Given the description of an element on the screen output the (x, y) to click on. 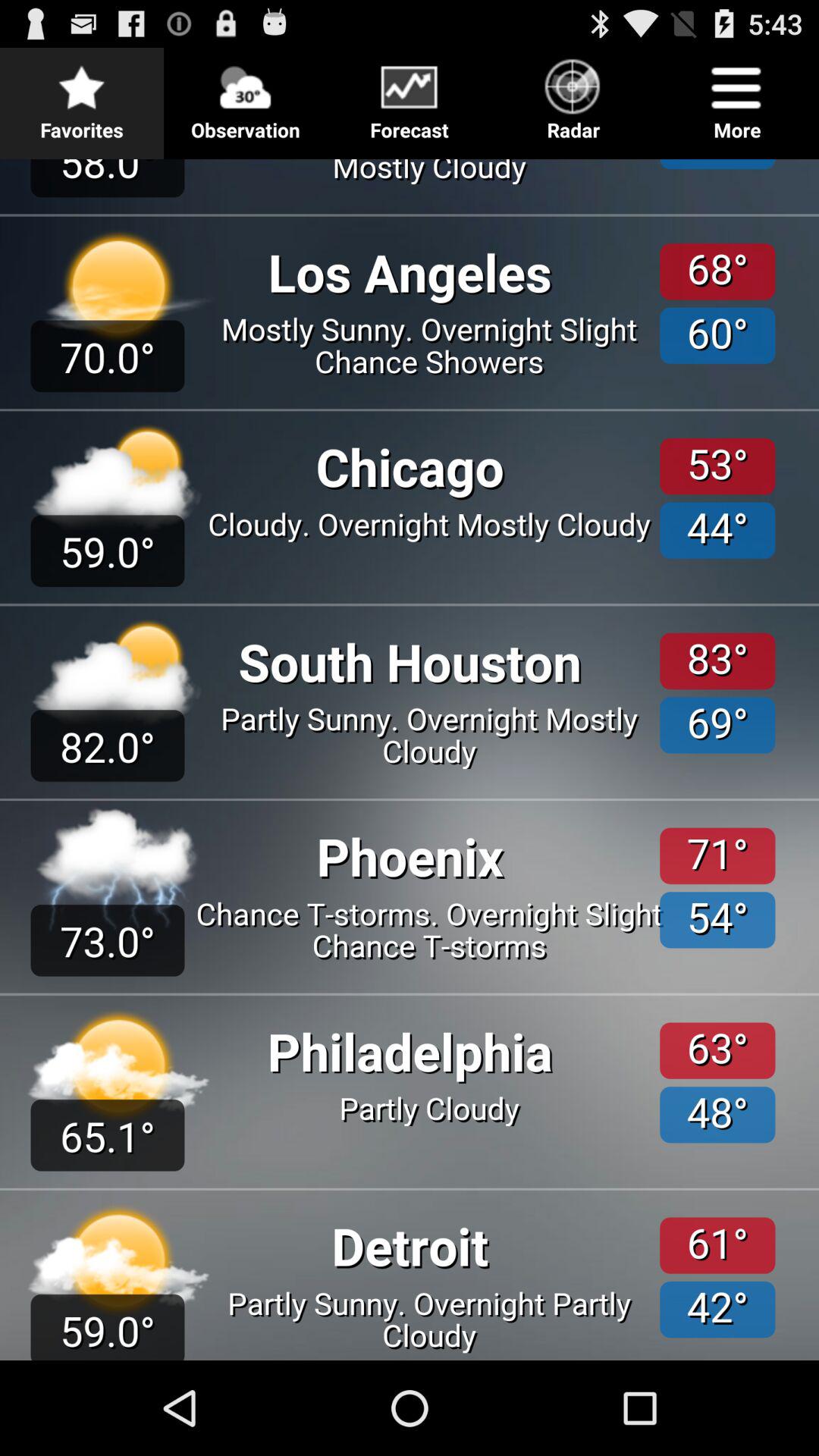
select favorites item (81, 95)
